Given the description of an element on the screen output the (x, y) to click on. 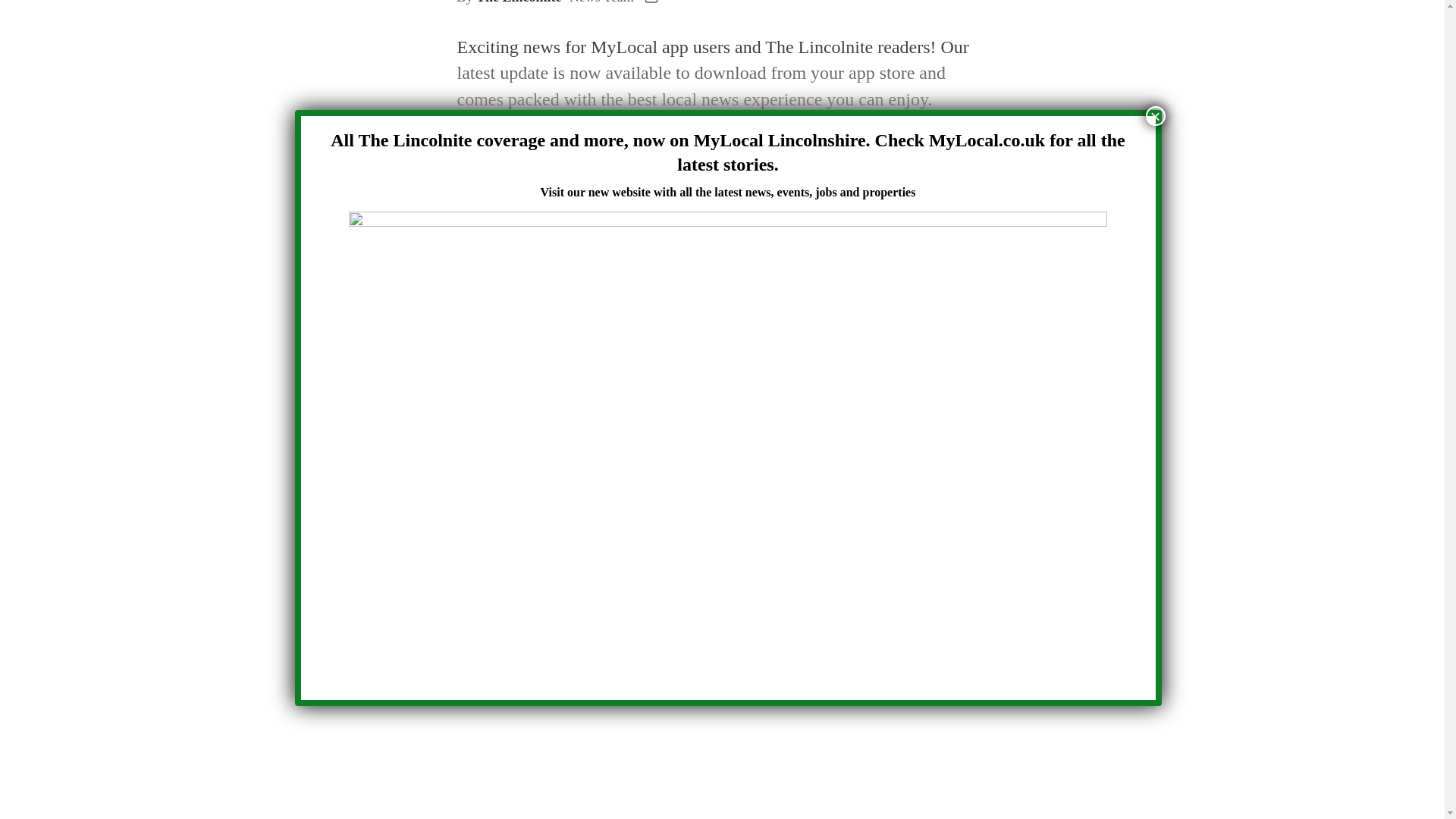
Contact author (651, 2)
